Given the description of an element on the screen output the (x, y) to click on. 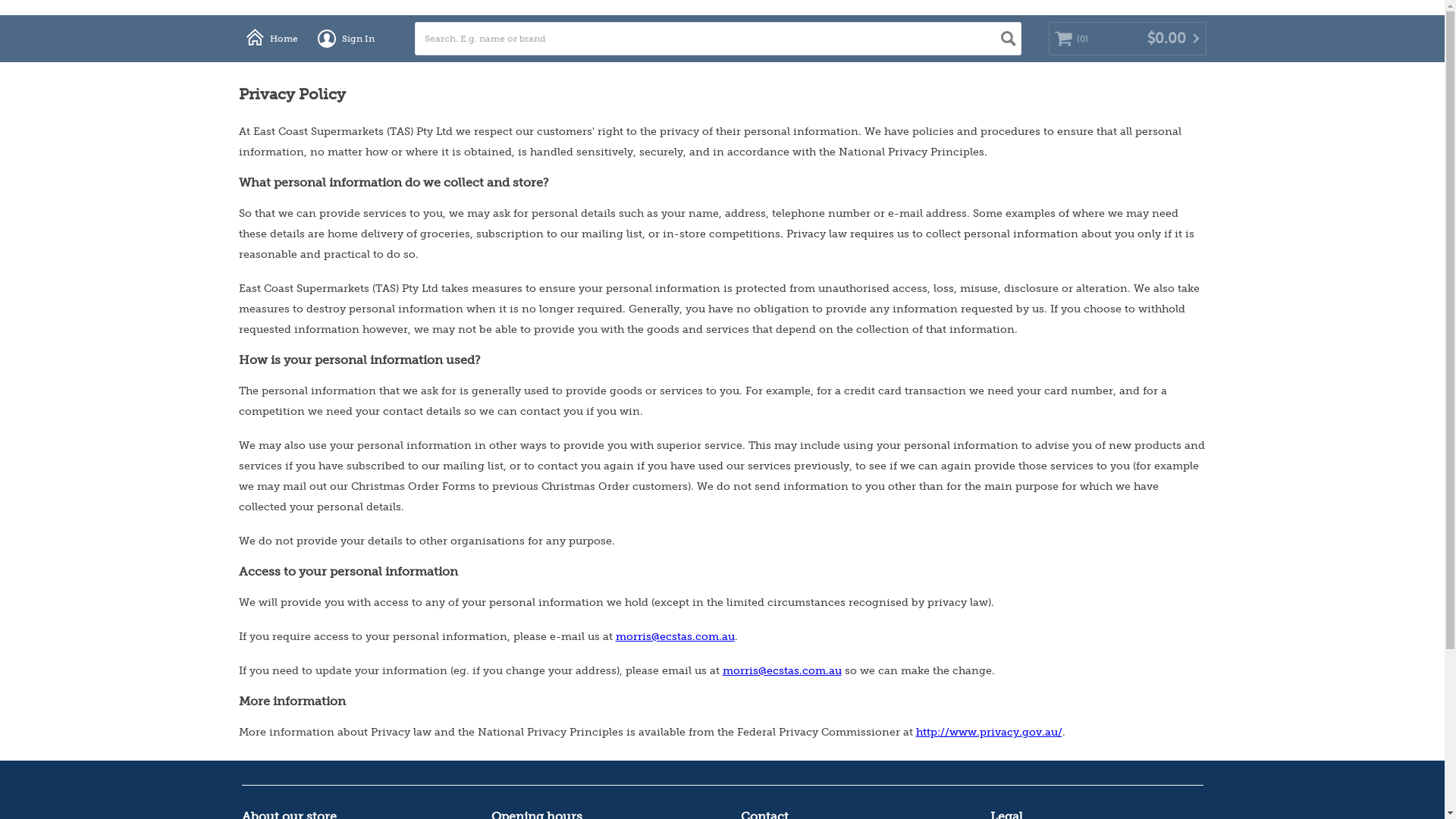
Search Element type: hover (1008, 38)
morris@ecstas.com.au Element type: text (674, 636)
http://www.privacy.gov.au/ Element type: text (989, 731)
(0)
$0.00 Element type: text (1126, 38)
Home Element type: text (271, 38)
morris@ecstas.com.au Element type: text (780, 670)
Sign In Element type: text (345, 38)
